Given the description of an element on the screen output the (x, y) to click on. 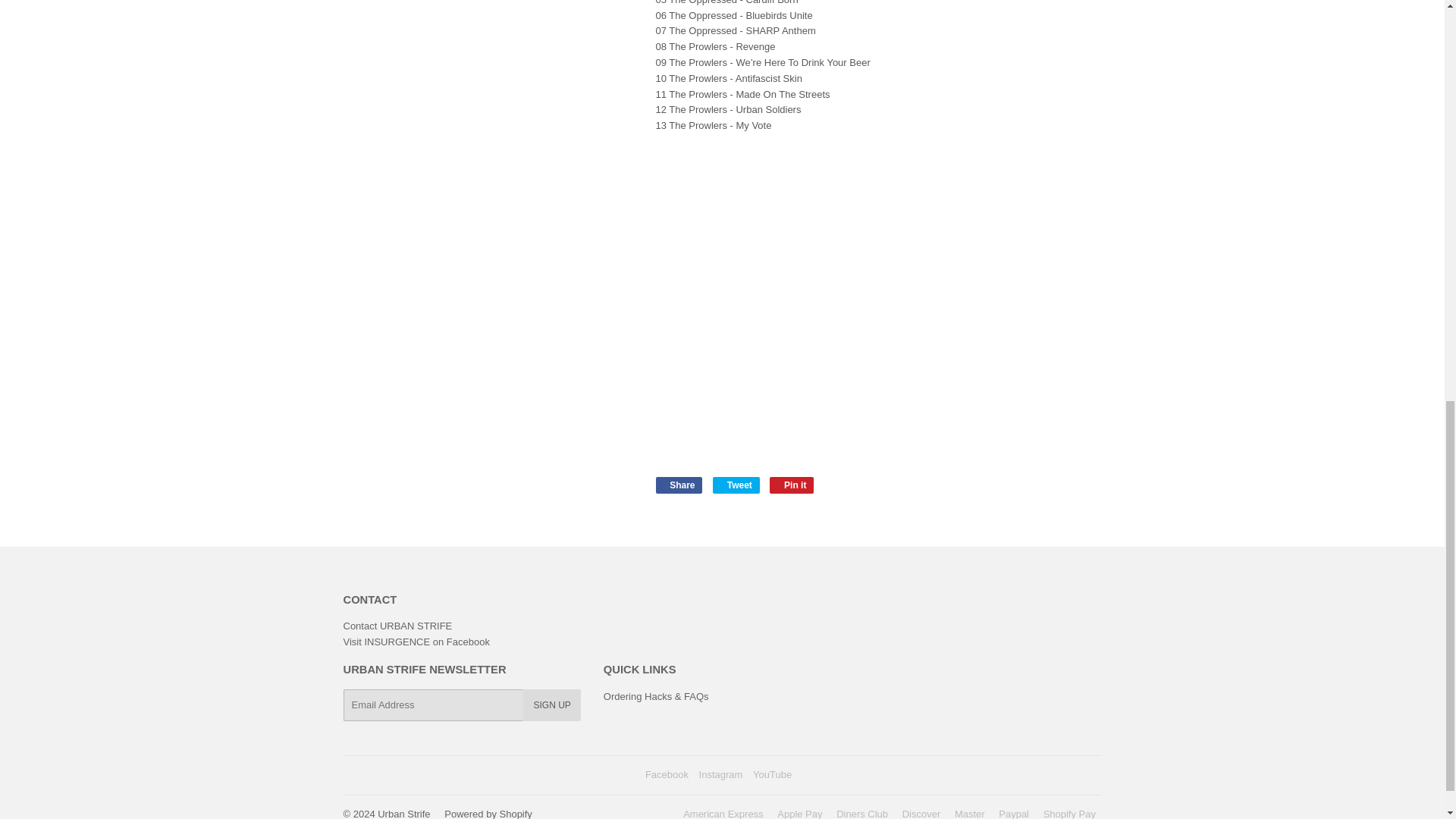
Tweet on Twitter (736, 484)
Urban Strife on Facebook (666, 774)
Pin on Pinterest (791, 484)
Urban Strife on Instagram (720, 774)
Contact Us (396, 625)
Share on Facebook (678, 484)
Urban Strife on YouTube (772, 774)
